Given the description of an element on the screen output the (x, y) to click on. 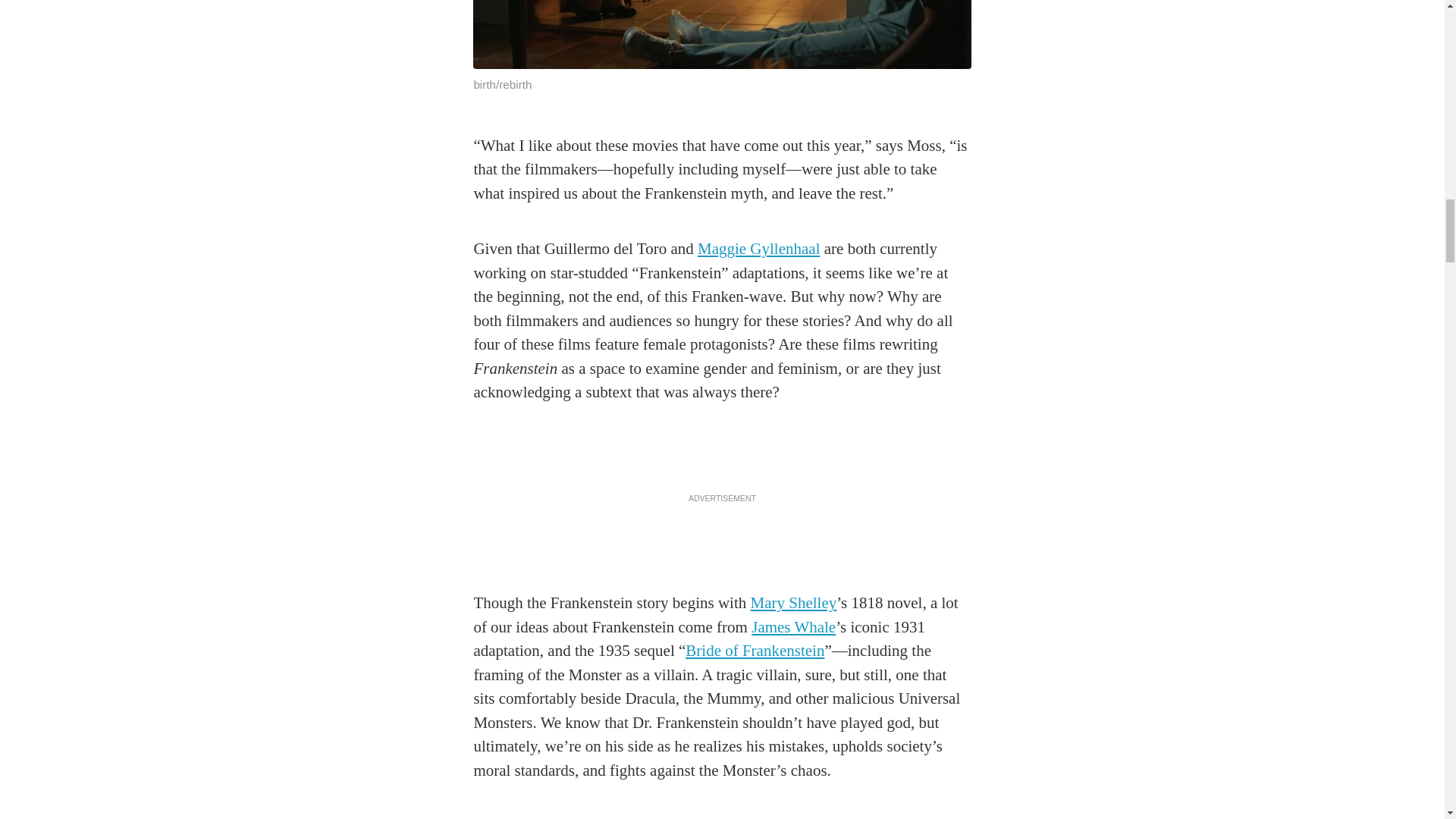
Maggie Gyllenhaal (759, 248)
Mary Shelley (794, 602)
Poor Things (637, 817)
James Whale (793, 627)
Bride of Frankenstein (754, 650)
